Given the description of an element on the screen output the (x, y) to click on. 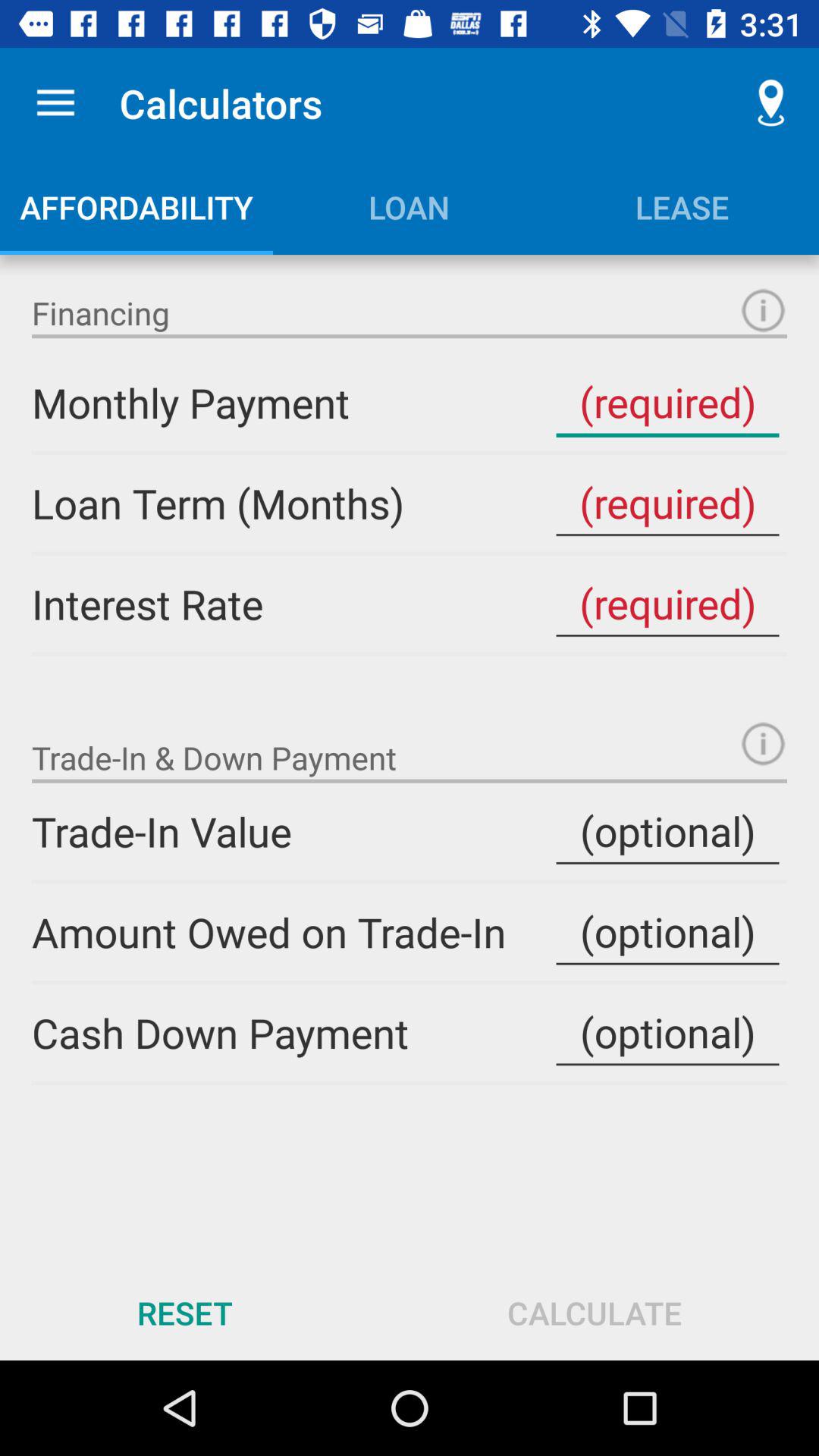
turn on item next to calculators icon (55, 103)
